Given the description of an element on the screen output the (x, y) to click on. 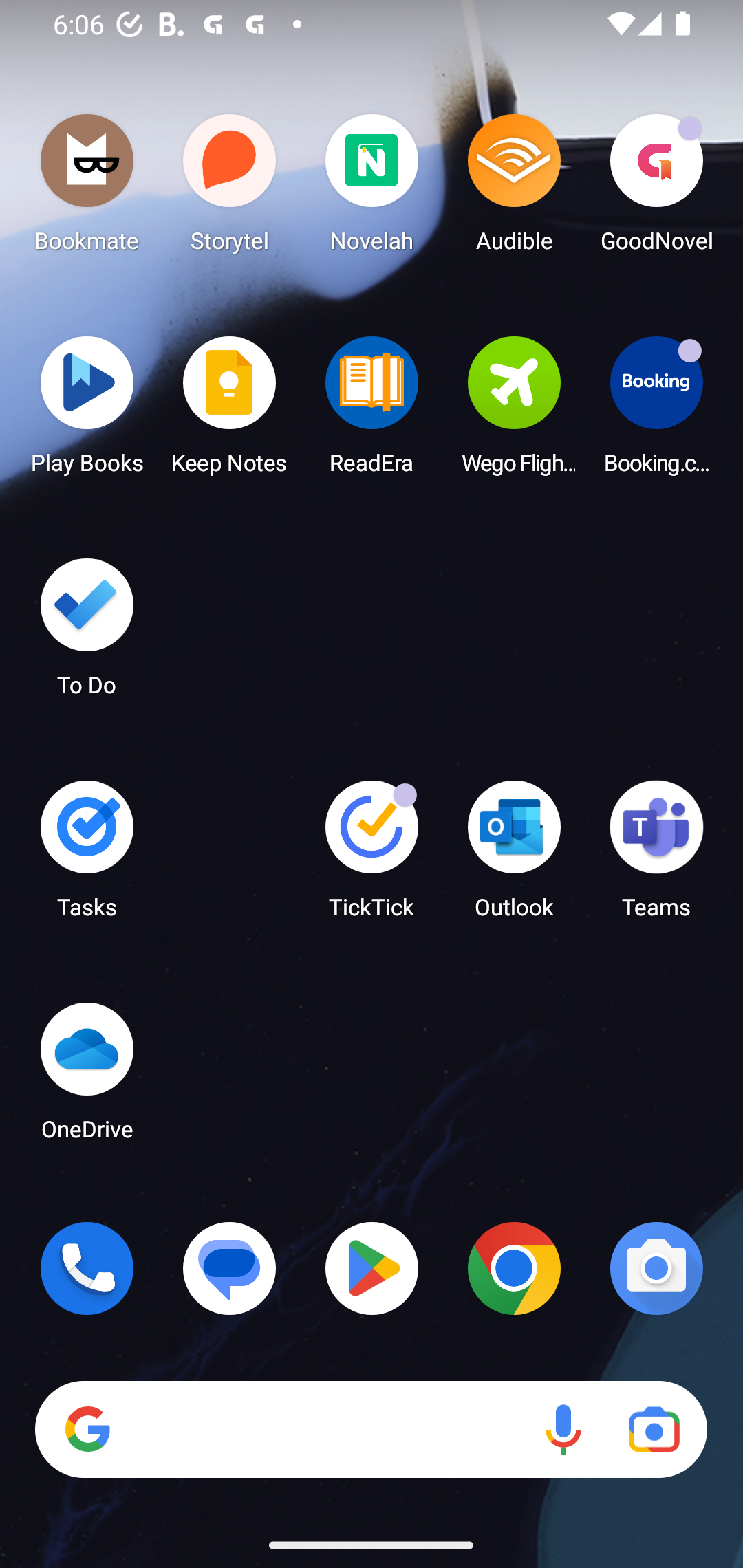
Bookmate (86, 188)
Storytel (229, 188)
Novelah (371, 188)
Audible (513, 188)
GoodNovel GoodNovel has 19 notifications (656, 188)
Play Books (86, 410)
Keep Notes (229, 410)
ReadEra (371, 410)
Wego Flights & Hotels (513, 410)
Booking.com Booking.com has 1 notification (656, 410)
To Do (86, 633)
Tasks (86, 854)
TickTick TickTick has 3 notifications (371, 854)
Outlook (513, 854)
Teams (656, 854)
OneDrive (86, 1076)
Phone (86, 1268)
Messages (229, 1268)
Play Store (371, 1268)
Chrome (513, 1268)
Camera (656, 1268)
Search Voice search Google Lens (370, 1429)
Voice search (562, 1429)
Google Lens (653, 1429)
